Given the description of an element on the screen output the (x, y) to click on. 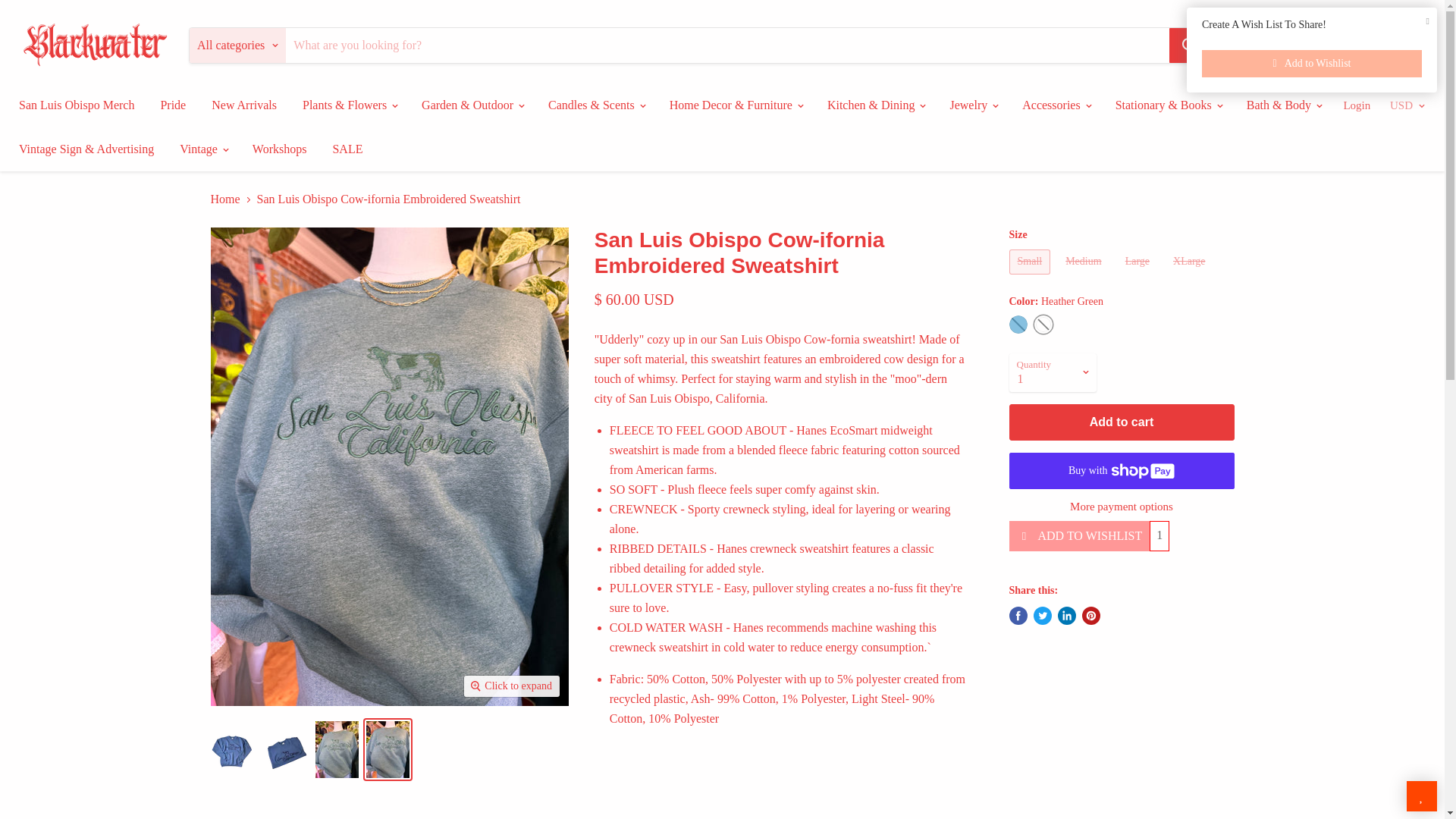
New Arrivals (244, 105)
Pride (172, 105)
View cart (1414, 45)
San Luis Obispo Merch (76, 105)
SHOP NEW ARRIVALS (1320, 44)
